Given the description of an element on the screen output the (x, y) to click on. 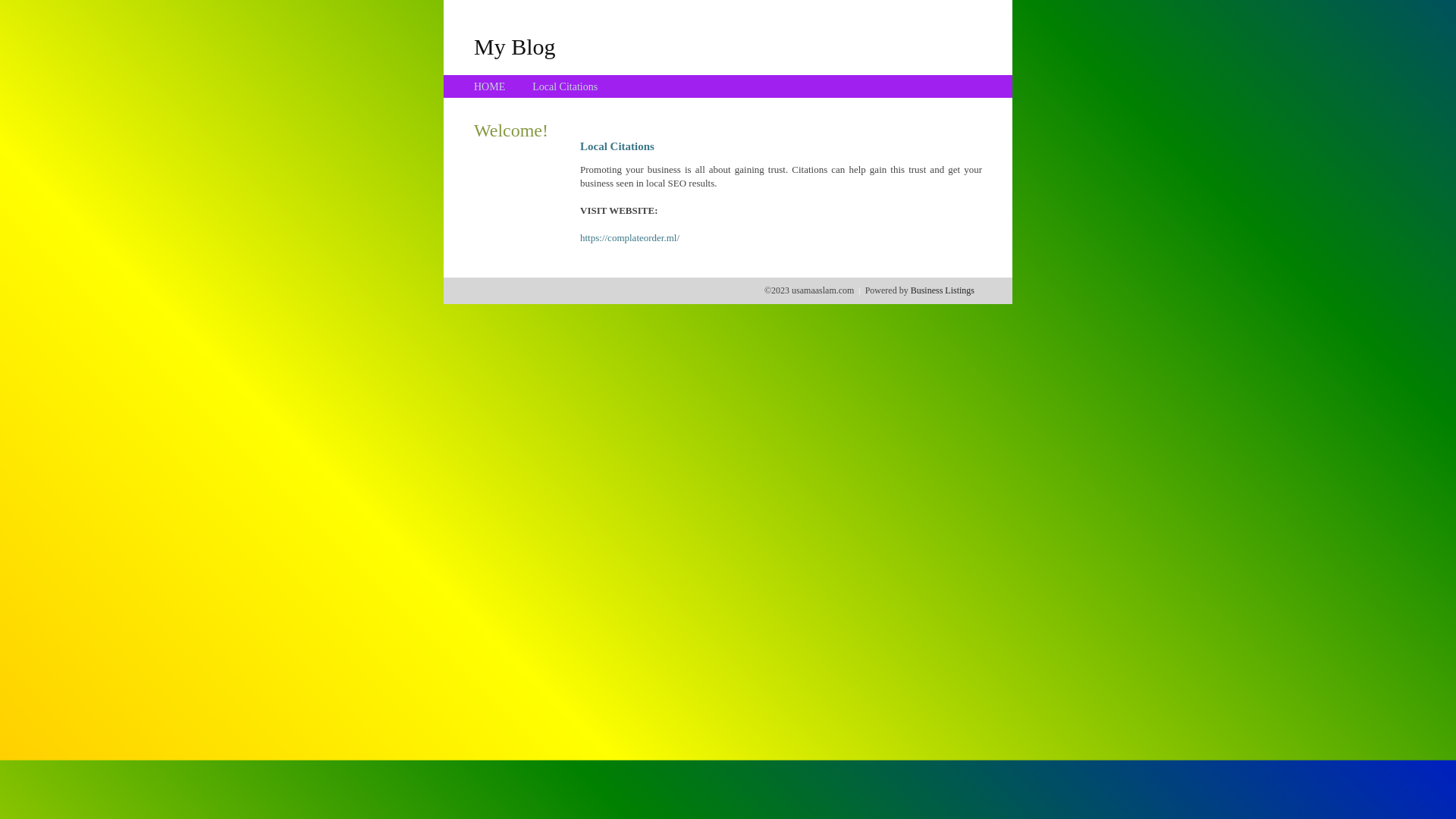
Local Citations Element type: text (564, 86)
My Blog Element type: text (514, 46)
HOME Element type: text (489, 86)
Business Listings Element type: text (942, 290)
https://complateorder.ml/ Element type: text (629, 237)
